Given the description of an element on the screen output the (x, y) to click on. 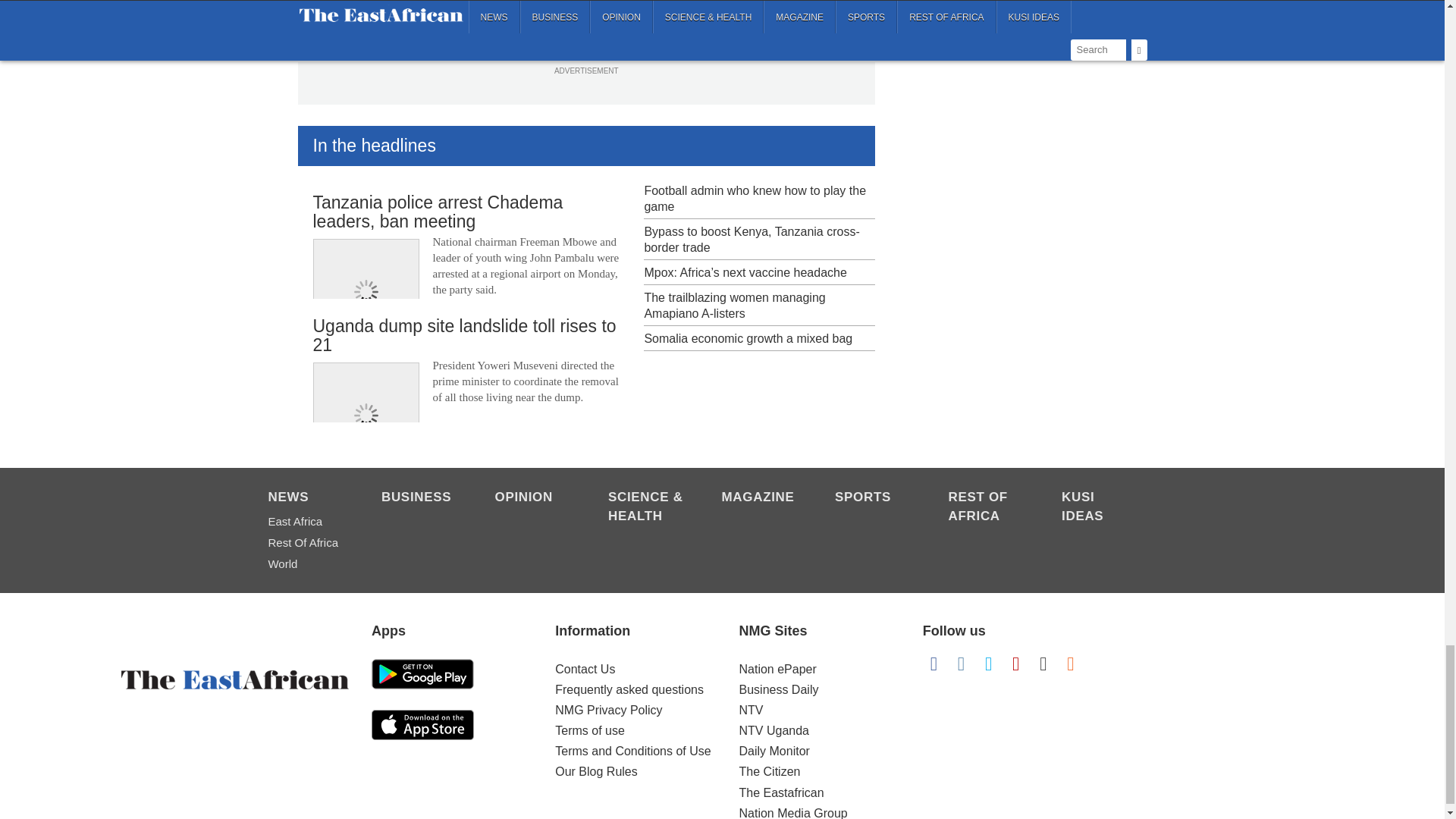
Contact Us (584, 668)
Terms of use (589, 730)
News (306, 498)
Terms and Conditions of Use (632, 750)
Sports (873, 498)
NMG Privacy Policy (608, 709)
Our Blog Rules (595, 771)
World (306, 563)
Rest of Africa (987, 507)
Rest of Africa (306, 542)
